Given the description of an element on the screen output the (x, y) to click on. 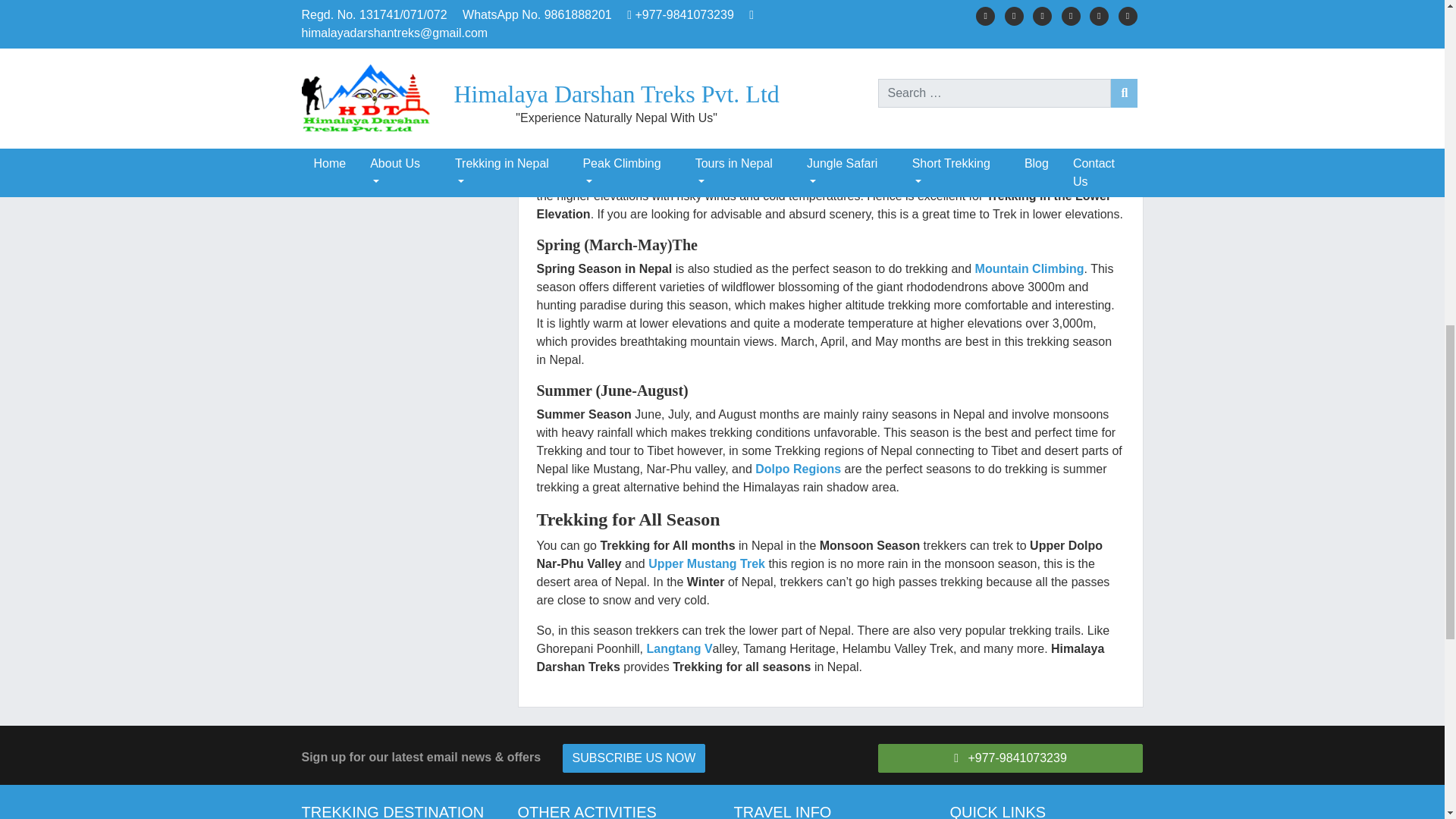
SUBMIT (352, 130)
